Given the description of an element on the screen output the (x, y) to click on. 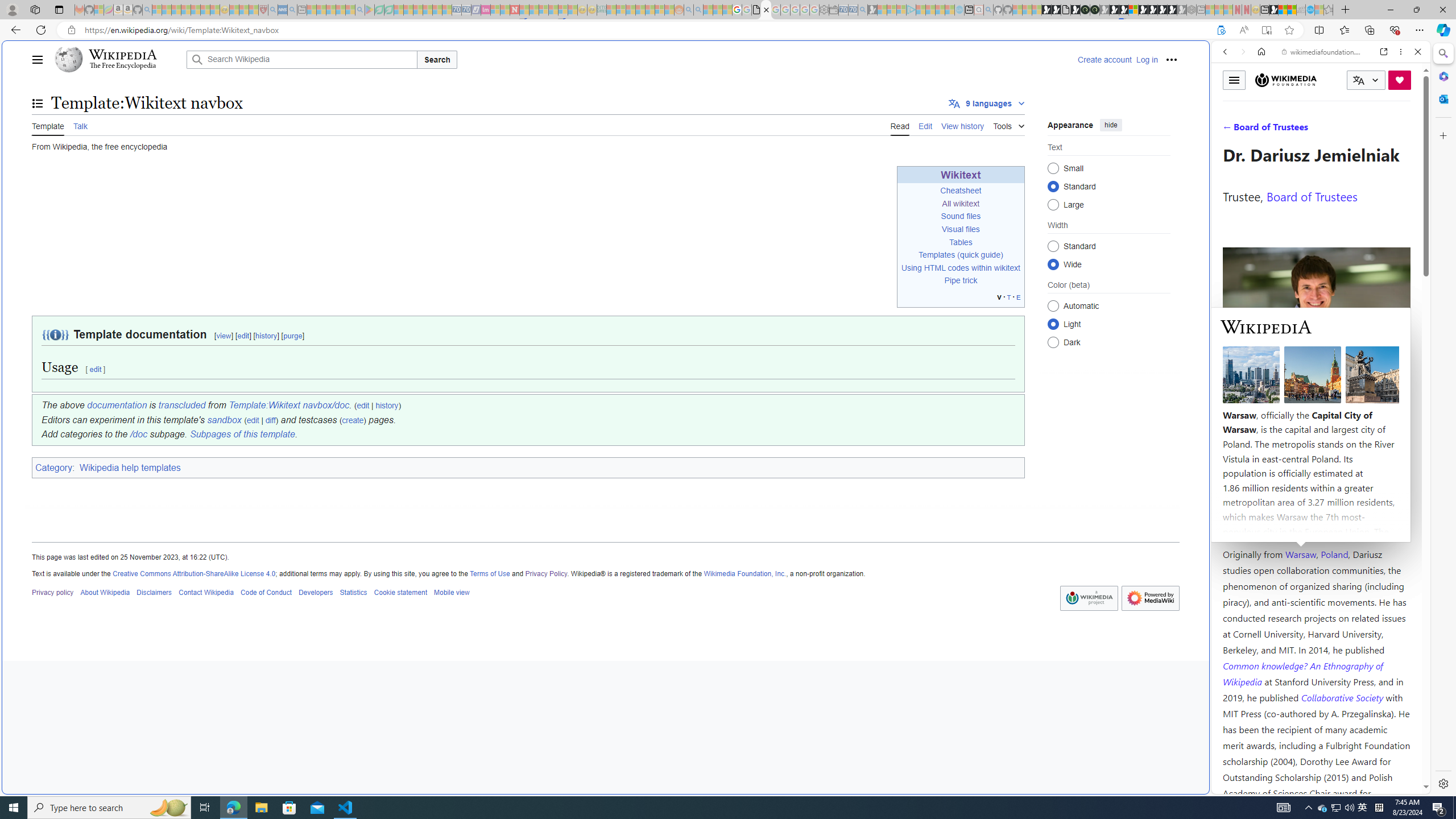
Pipe trick (959, 280)
View history (962, 124)
Cookie statement (400, 592)
Disclaimers (153, 592)
Profile on Meta-Wiki (1273, 405)
Templates (936, 254)
